Given the description of an element on the screen output the (x, y) to click on. 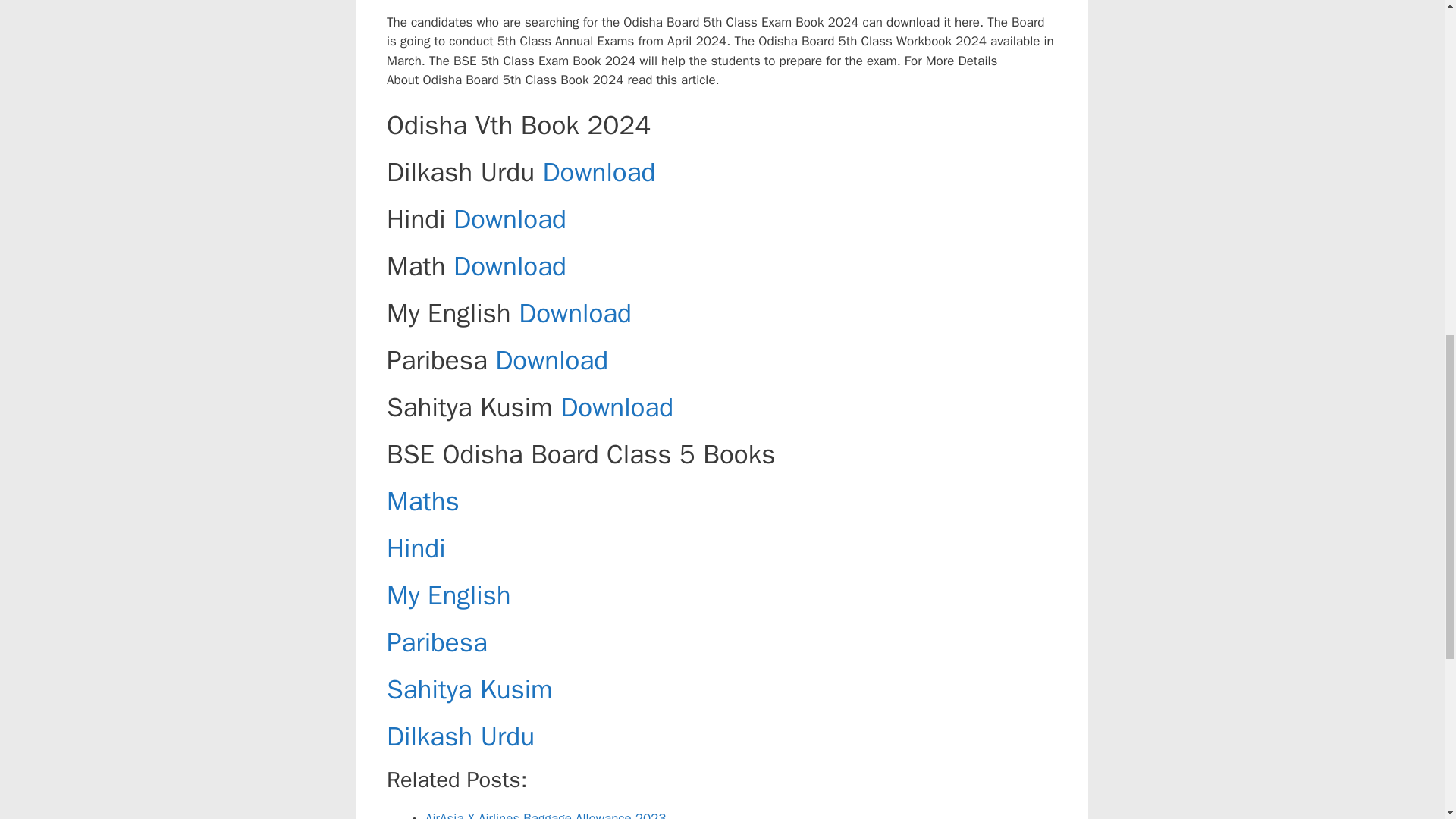
Maths (423, 500)
AirAsia X Airlines Baggage Allowance 2023 (545, 814)
Download (509, 218)
Download (551, 359)
Download (599, 172)
Download (574, 313)
Download (509, 265)
Download (616, 407)
Dilkash Urdu (460, 735)
My English (449, 594)
Paribesa (437, 642)
Hindi (416, 548)
Sahitya Kusim (470, 688)
